Given the description of an element on the screen output the (x, y) to click on. 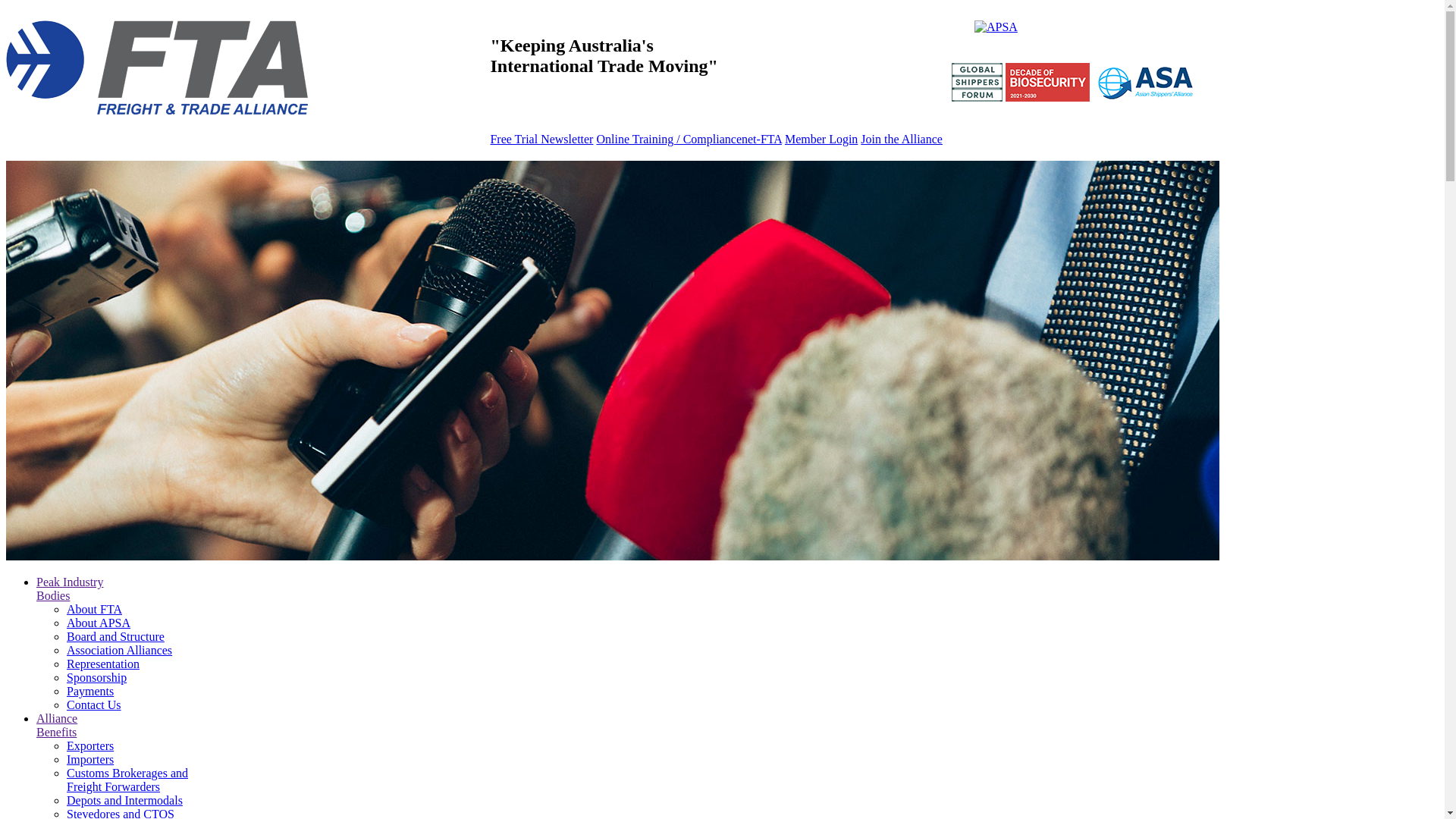
Exporters Element type: text (89, 745)
Join the Alliance Element type: text (901, 138)
Member Login Element type: text (820, 138)
Payments Element type: text (89, 690)
About FTA Element type: text (94, 608)
Importers Element type: text (89, 759)
Contact Us Element type: text (93, 704)
FTA Element type: hover (157, 69)
Online Training / Compliancenet-FTA Element type: text (688, 138)
Peak Industry
Bodies Element type: text (69, 588)
Board and Structure Element type: text (115, 636)
Sponsorship Element type: text (96, 677)
Depots and Intermodals Element type: text (124, 799)
Alliance
Benefits Element type: text (56, 725)
About APSA Element type: text (98, 622)
Association Alliances Element type: text (119, 649)
Representation Element type: text (102, 663)
Customs Brokerages and
Freight Forwarders Element type: text (127, 779)
Free Trial Newsletter Element type: text (541, 138)
APSA Element type: hover (995, 27)
